Given the description of an element on the screen output the (x, y) to click on. 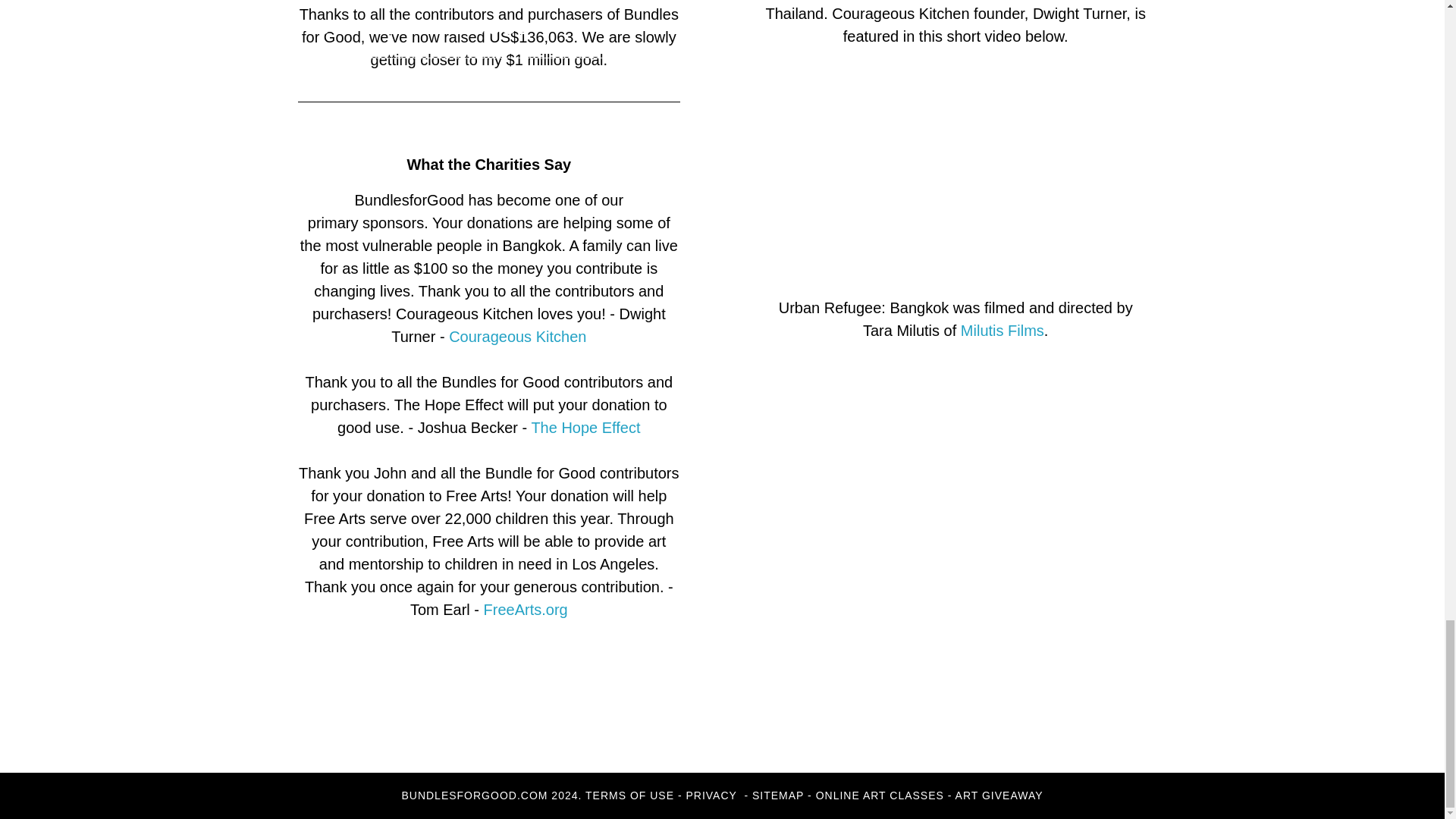
Milutis Films (1001, 330)
ONLINE ART CLASSES (879, 795)
SITEMAP (777, 795)
ART GIVEAWAY (999, 795)
Courageous Kitchen (517, 336)
TERMS OF USE (629, 795)
FreeArts.org (525, 609)
ART GIVEAWAY (261, 751)
PRIVACY  (712, 795)
ONLINE ART CLASSES (93, 751)
